Given the description of an element on the screen output the (x, y) to click on. 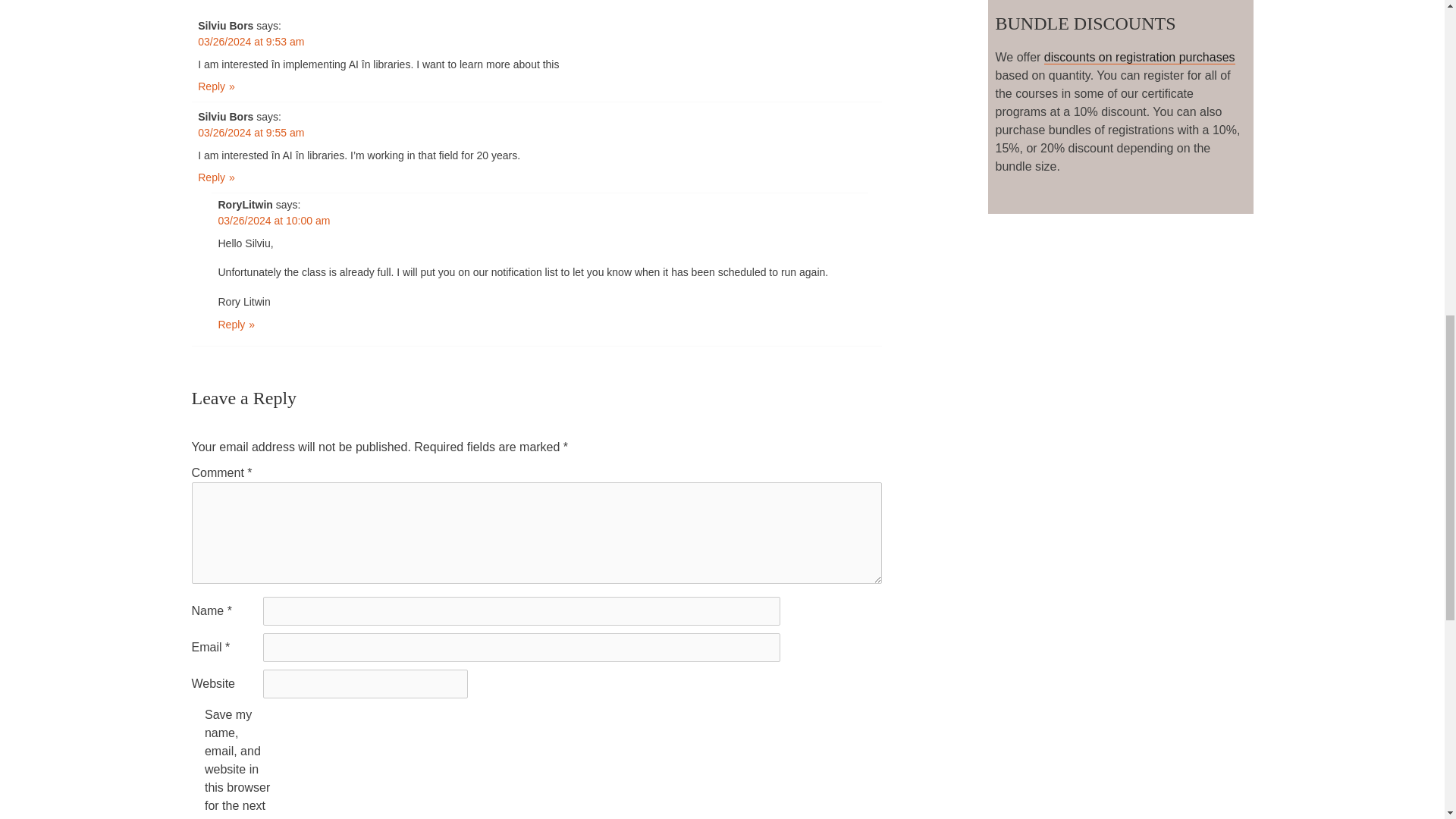
Reply (216, 86)
Reply (237, 324)
Reply (216, 177)
